Given the description of an element on the screen output the (x, y) to click on. 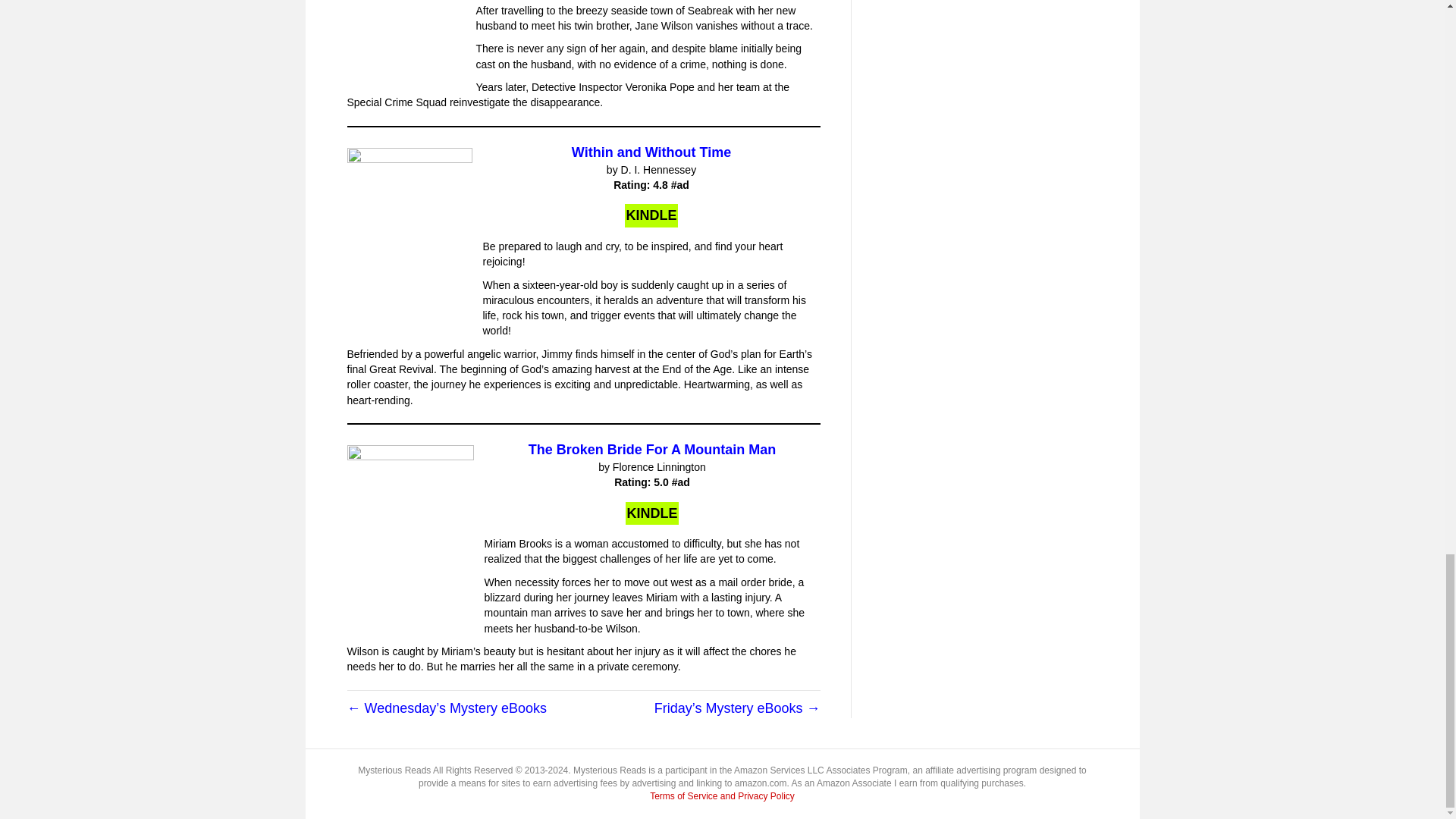
Within and Without Time (651, 151)
KINDLE (651, 215)
The Broken Bride For A Mountain Man (652, 449)
